Given the description of an element on the screen output the (x, y) to click on. 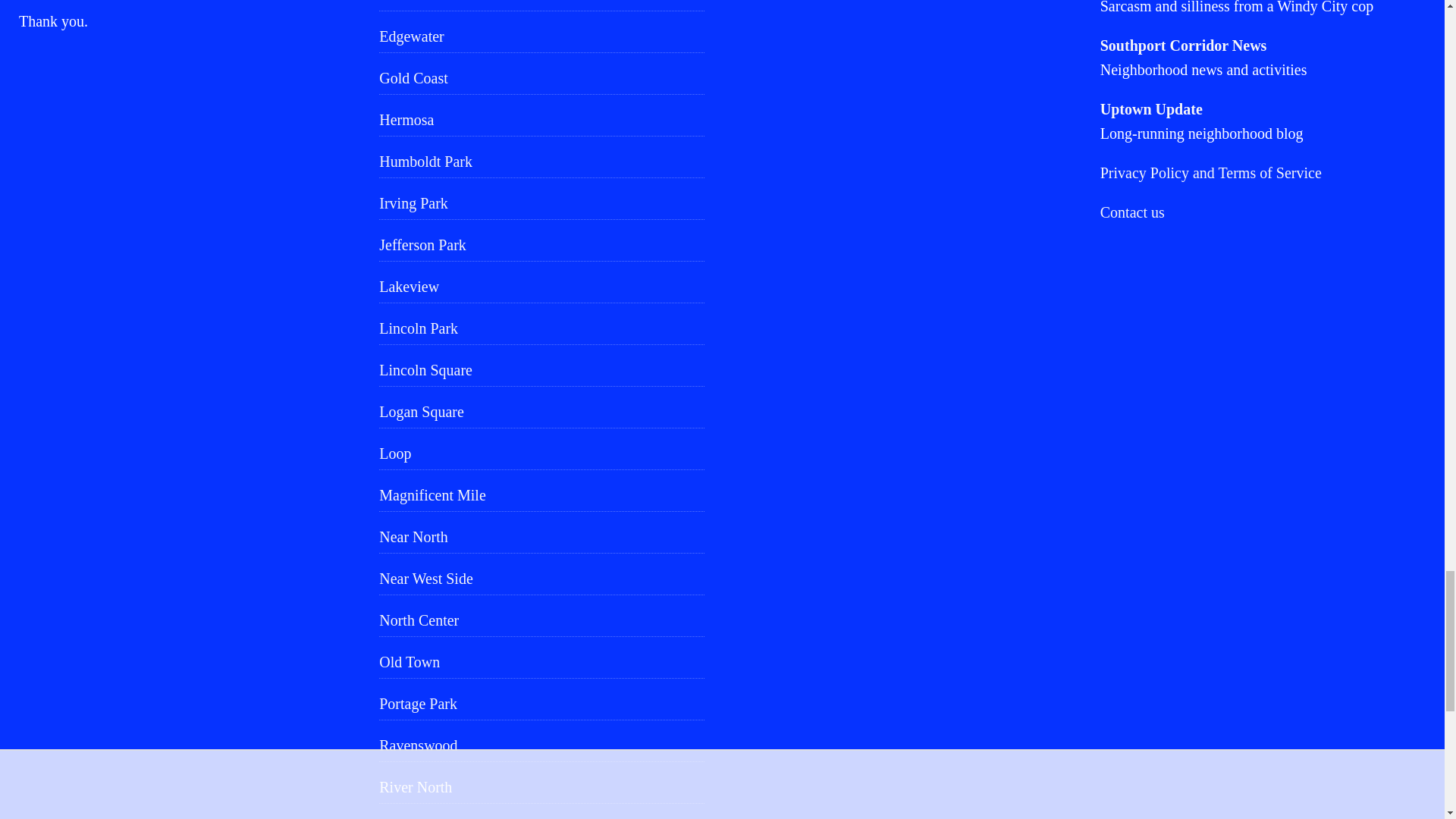
Edgewater (541, 36)
CTA (541, 5)
Gold Coast (541, 78)
